Given the description of an element on the screen output the (x, y) to click on. 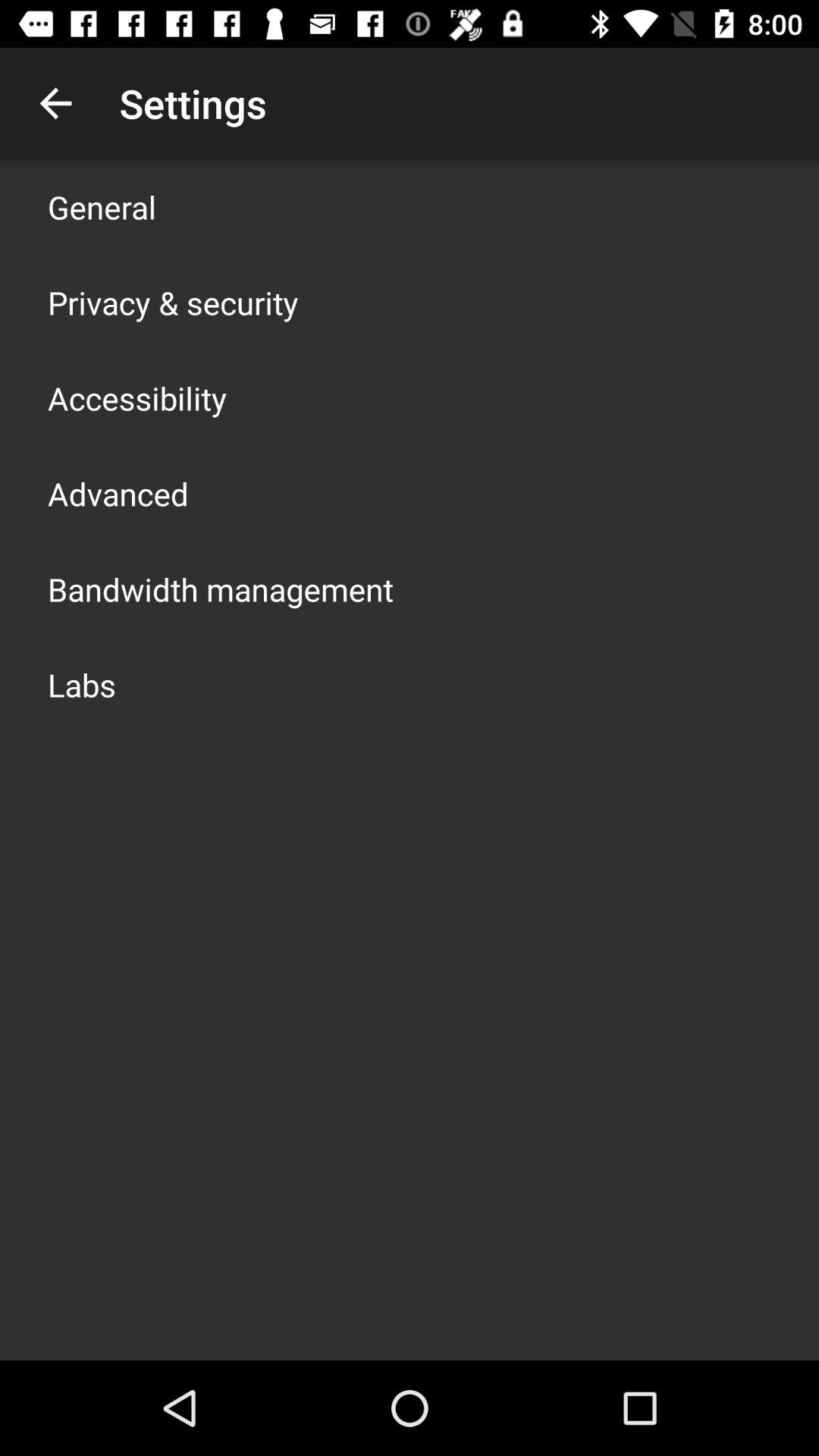
jump until general app (101, 206)
